Given the description of an element on the screen output the (x, y) to click on. 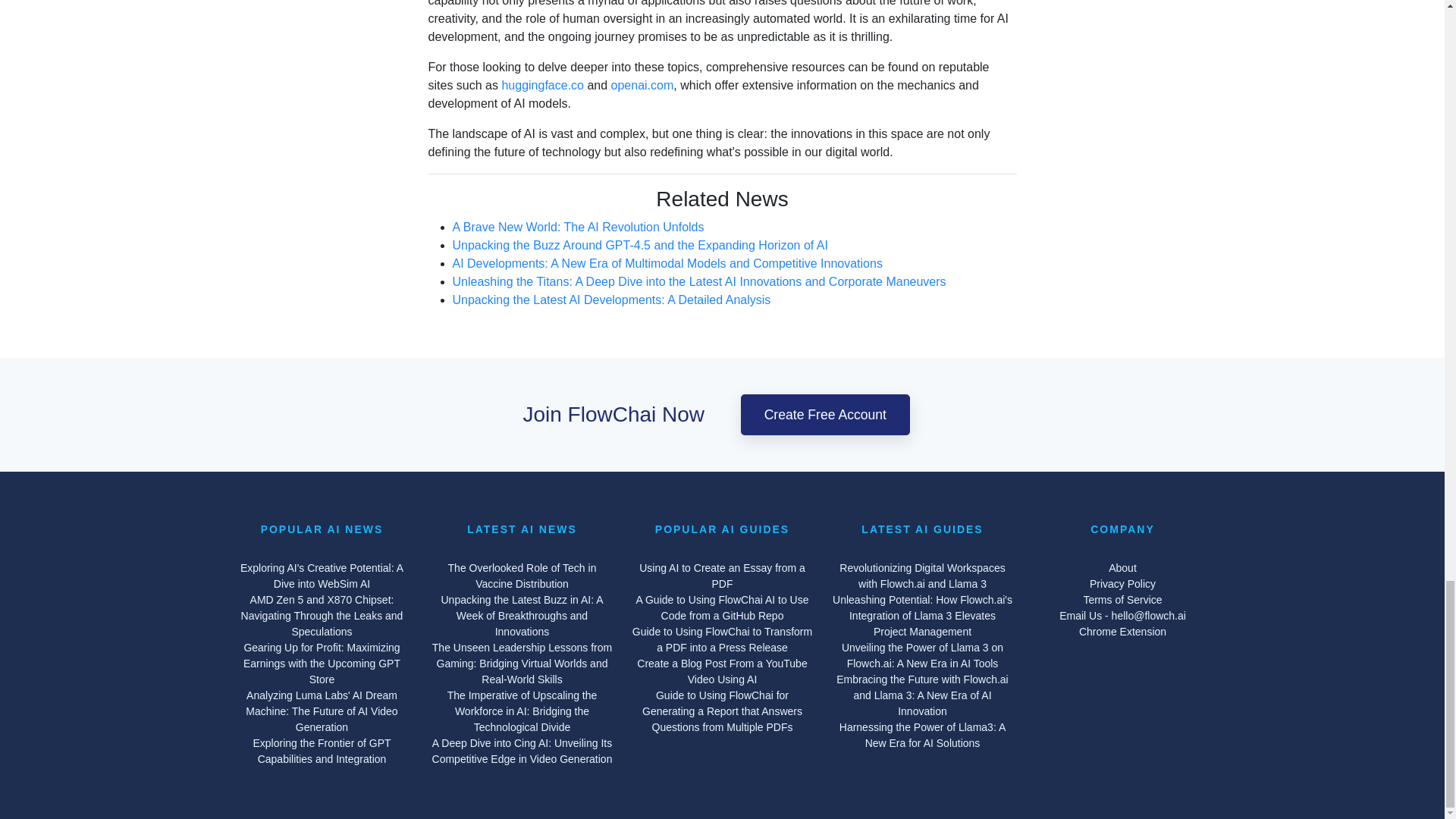
About (1121, 568)
A Brave New World: The AI Revolution Unfolds (577, 254)
huggingface.co (541, 120)
Privacy Policy (1121, 584)
Create Free Account (825, 413)
Exploring the Frontier of GPT Capabilities and Integration (321, 751)
A Guide to Using FlowChai AI to Use Code from a GitHub Repo (721, 608)
Using AI to Create an Essay from a PDF (721, 576)
Create a Blog Post From a YouTube Video Using AI (721, 671)
